Given the description of an element on the screen output the (x, y) to click on. 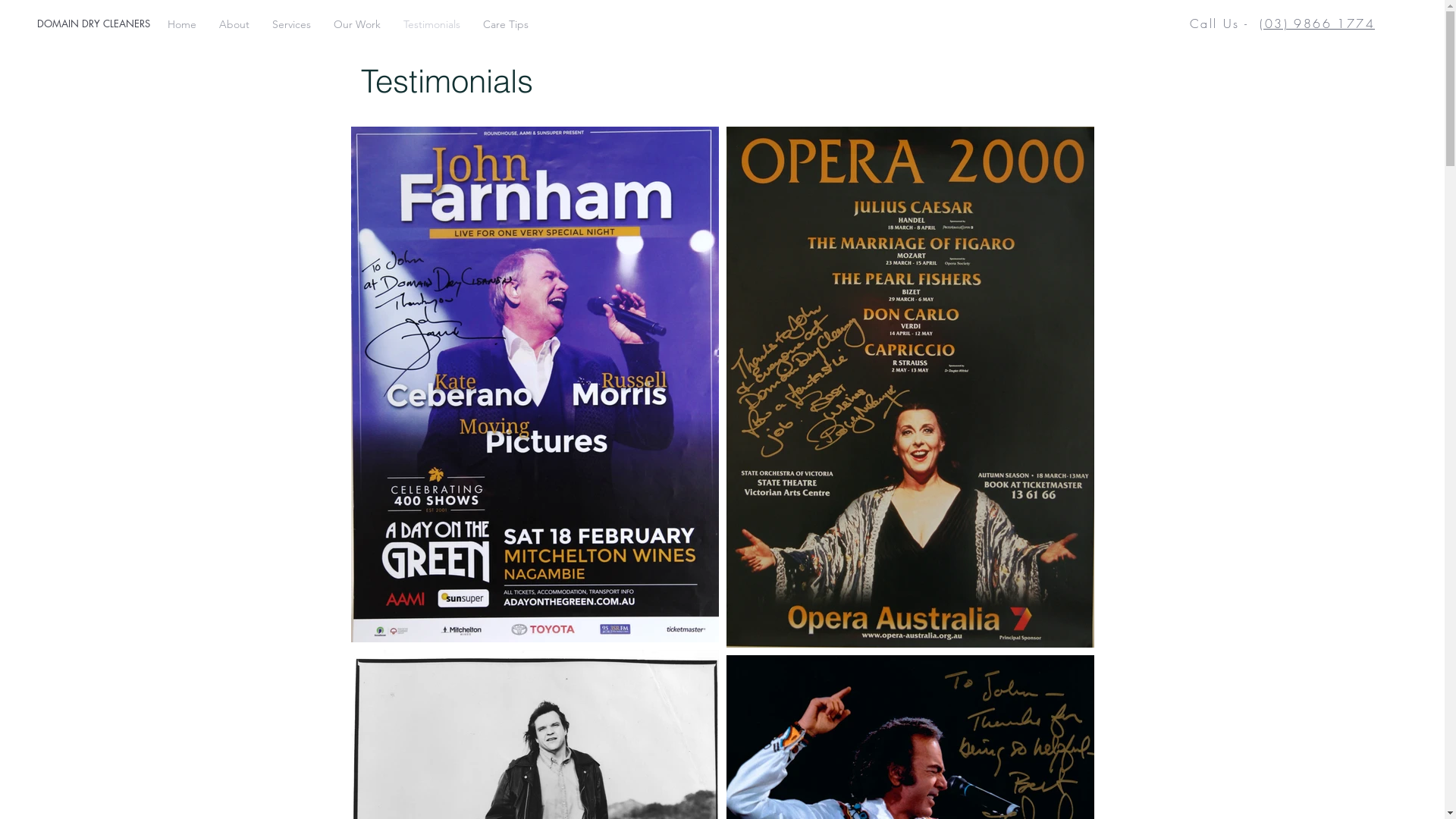
Testimonials Element type: text (431, 24)
Home Element type: text (181, 24)
(03) 9866 1774 Element type: text (1316, 23)
Care Tips Element type: text (505, 24)
Services Element type: text (291, 24)
About Element type: text (233, 24)
Our Work Element type: text (357, 24)
DOMAIN DRY CLEANERS Element type: text (193, 23)
